Given the description of an element on the screen output the (x, y) to click on. 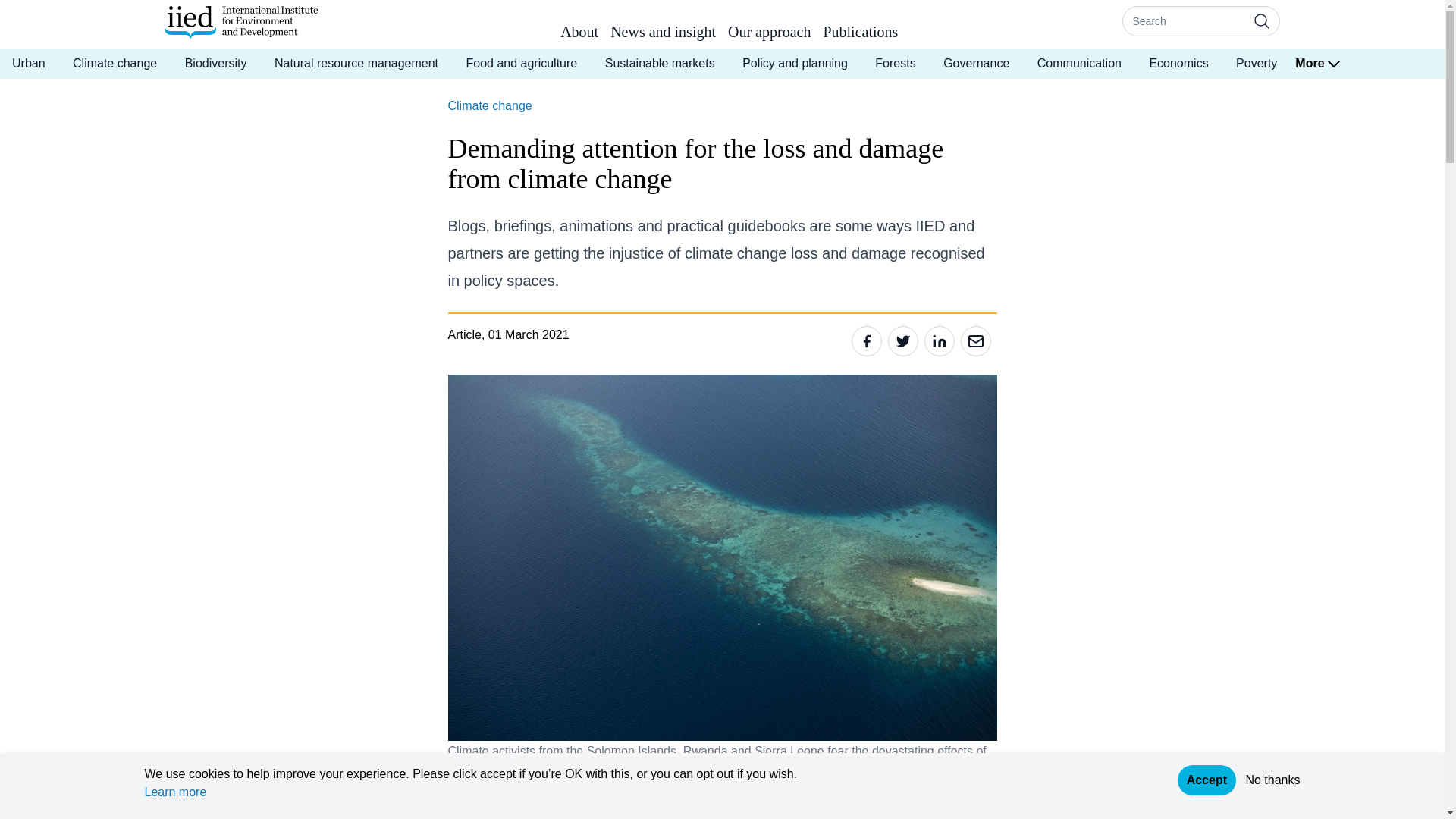
Biodiversity (216, 63)
Home (240, 22)
Natural resource management (355, 63)
Forests (895, 63)
Publications (860, 34)
Climate change (114, 63)
CC BY-NC-ND 2.0 (596, 780)
Urban (29, 63)
Food and agriculture (520, 63)
About (579, 34)
News and insight (663, 34)
Climate change (488, 105)
Economics (1178, 63)
Sustainable markets (659, 63)
